Given the description of an element on the screen output the (x, y) to click on. 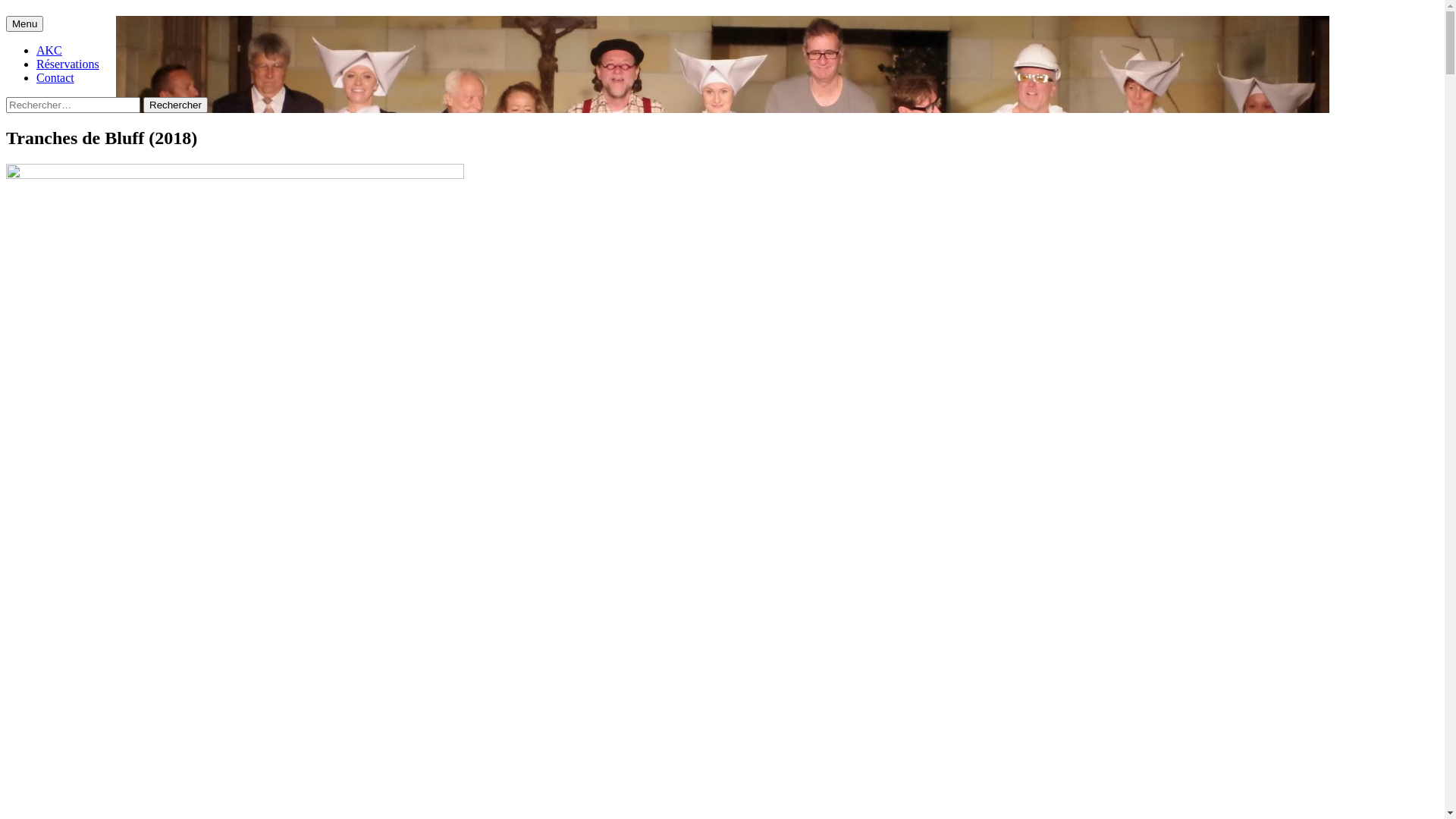
Aller au contenu Element type: text (42, 15)
Contact Element type: text (55, 77)
Menu Element type: text (24, 23)
AKC Element type: text (49, 49)
Rechercher Element type: text (175, 104)
